Given the description of an element on the screen output the (x, y) to click on. 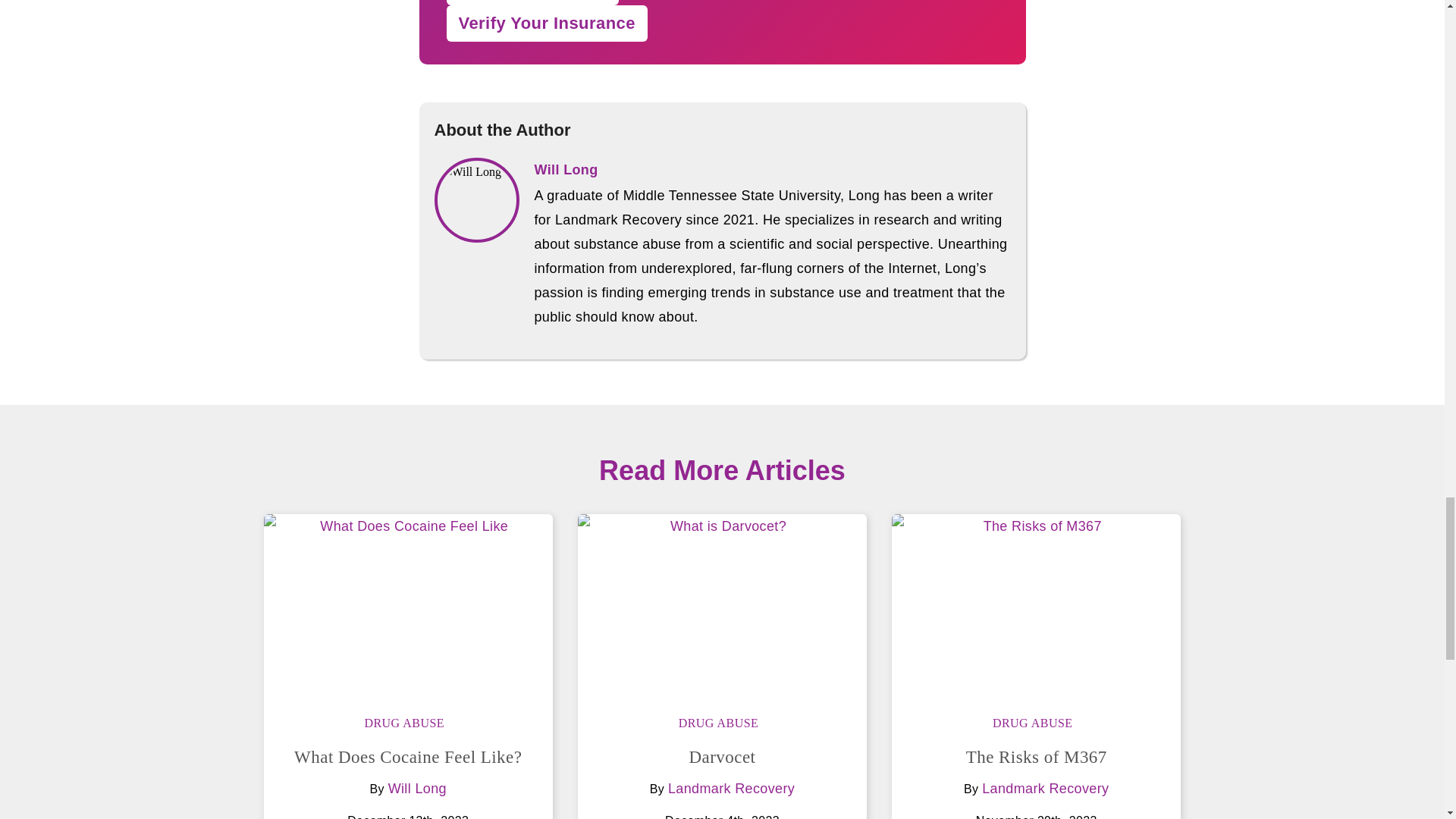
Will Long (417, 788)
Permanent Link to What Does Cocaine Feel Like? (408, 605)
Permanent Link to The Risks of M367 (1035, 605)
Permanent Link to Darvocet (722, 605)
Landmark Recovery (1044, 788)
Permanent Link to Darvocet (721, 756)
Landmark Recovery (731, 788)
Permanent Link to What Does Cocaine Feel Like? (407, 756)
Permanent Link to The Risks of M367 (1036, 756)
